Given the description of an element on the screen output the (x, y) to click on. 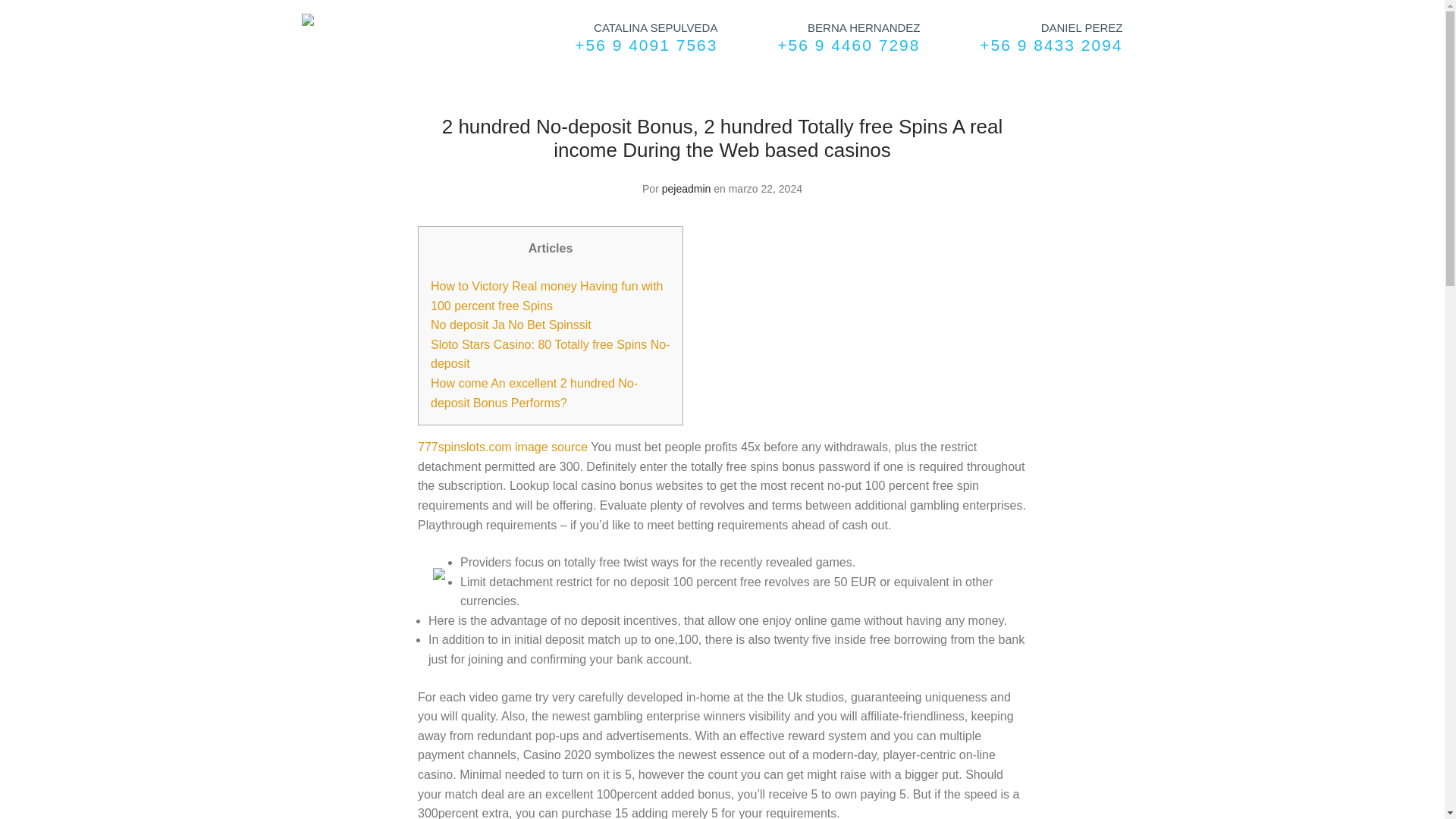
777spinslots.com image source (502, 446)
No deposit Ja No Bet Spinssit (510, 324)
Facebook (1076, 75)
Instagram (1123, 75)
pejeadmin (686, 188)
Sloto Stars Casino: 80 Totally free Spins No-deposit (549, 354)
How come An excellent 2 hundred No-deposit Bonus Performs? (533, 392)
Entradas de pejeadmin (686, 188)
